Given the description of an element on the screen output the (x, y) to click on. 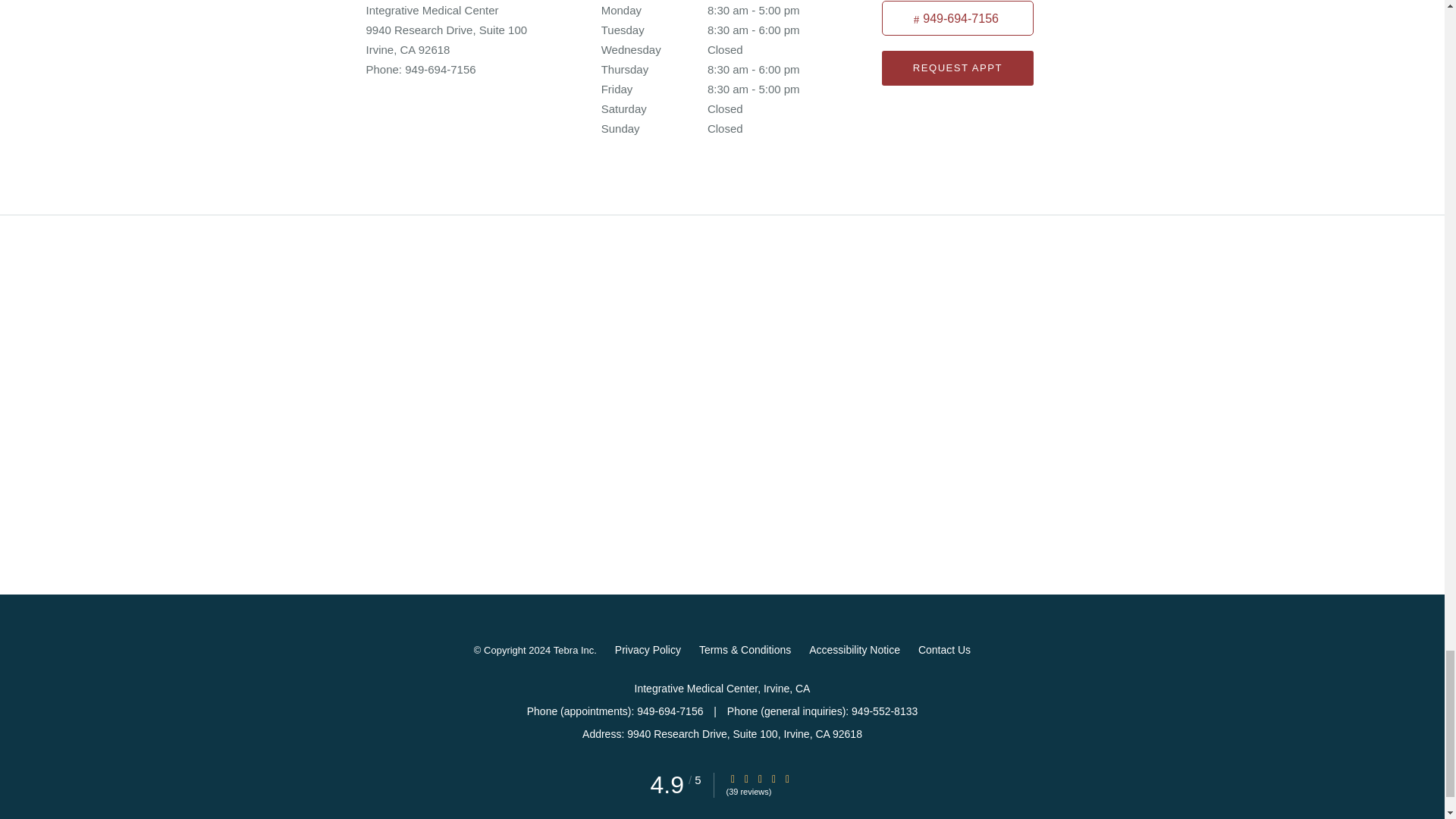
Star Rating (788, 778)
Star Rating (733, 778)
Star Rating (760, 778)
Star Rating (746, 778)
Star Rating (773, 778)
